Given the description of an element on the screen output the (x, y) to click on. 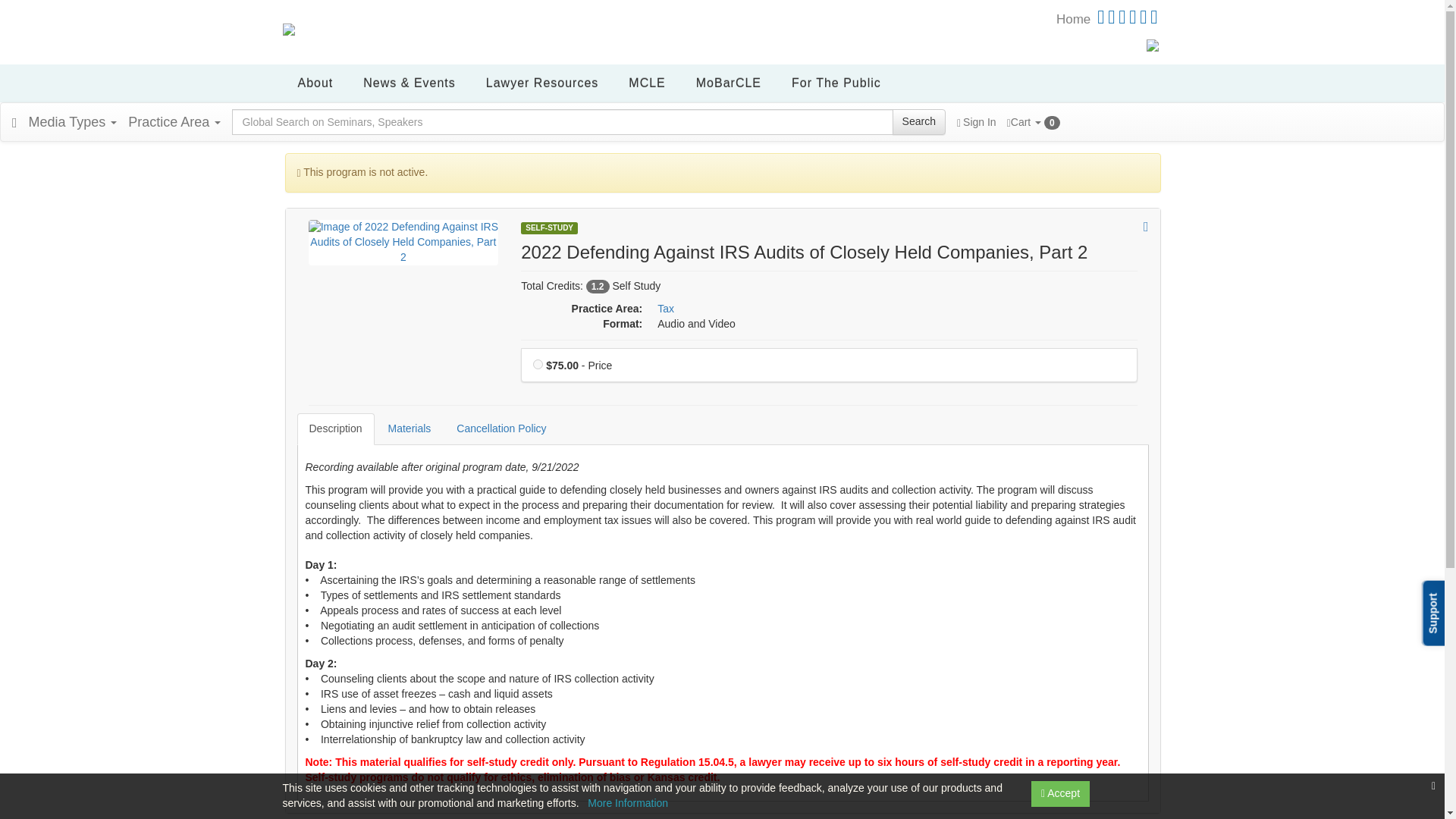
About (314, 83)
Lawyer Resources (542, 83)
0,75.00 (537, 364)
Home (1073, 19)
